Given the description of an element on the screen output the (x, y) to click on. 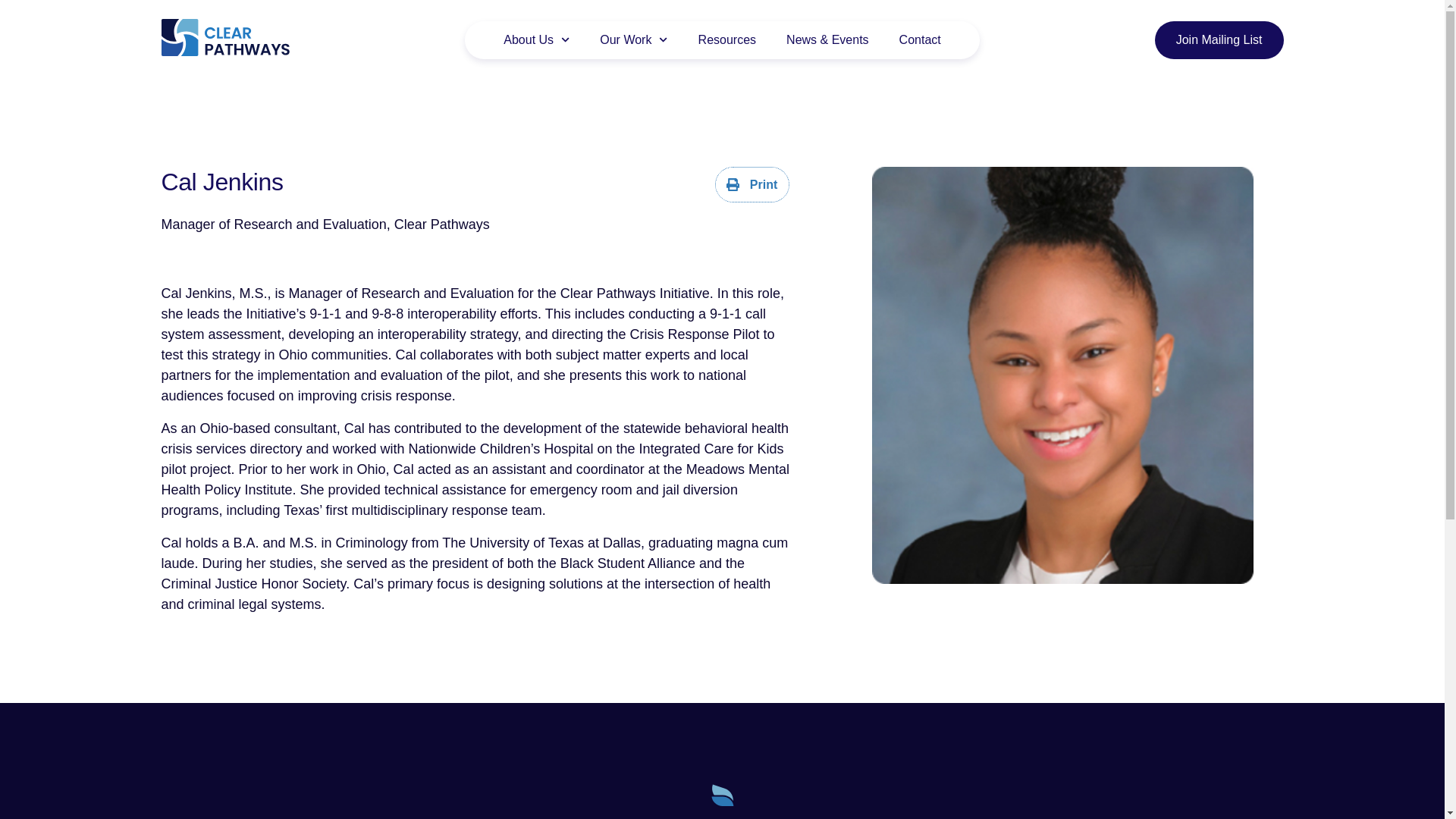
About Us (536, 39)
Our Work (633, 39)
Contact (919, 39)
Resources (726, 39)
